Given the description of an element on the screen output the (x, y) to click on. 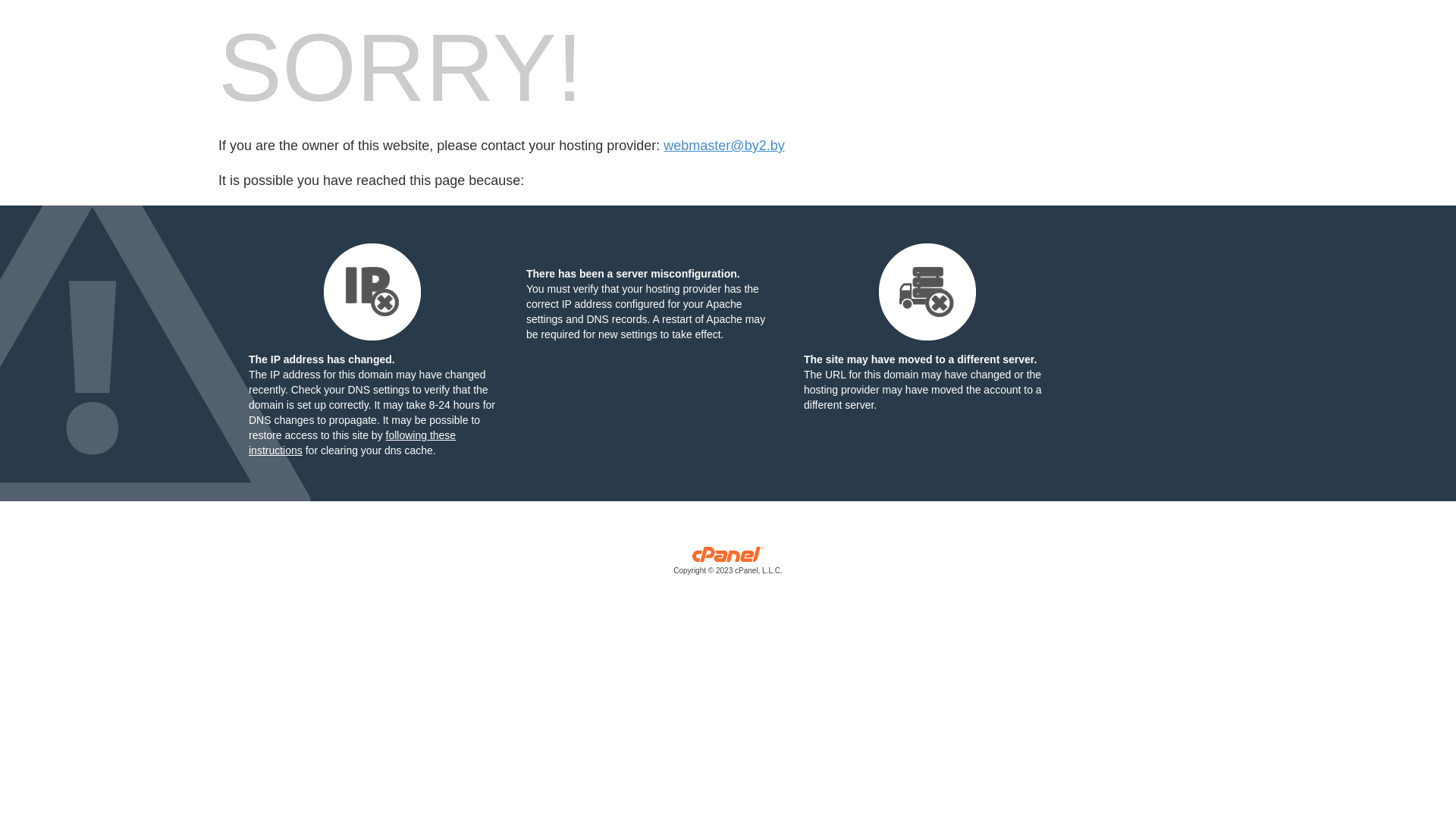
webmaster@by2.by Element type: text (723, 145)
following these instructions Element type: text (351, 442)
